Given the description of an element on the screen output the (x, y) to click on. 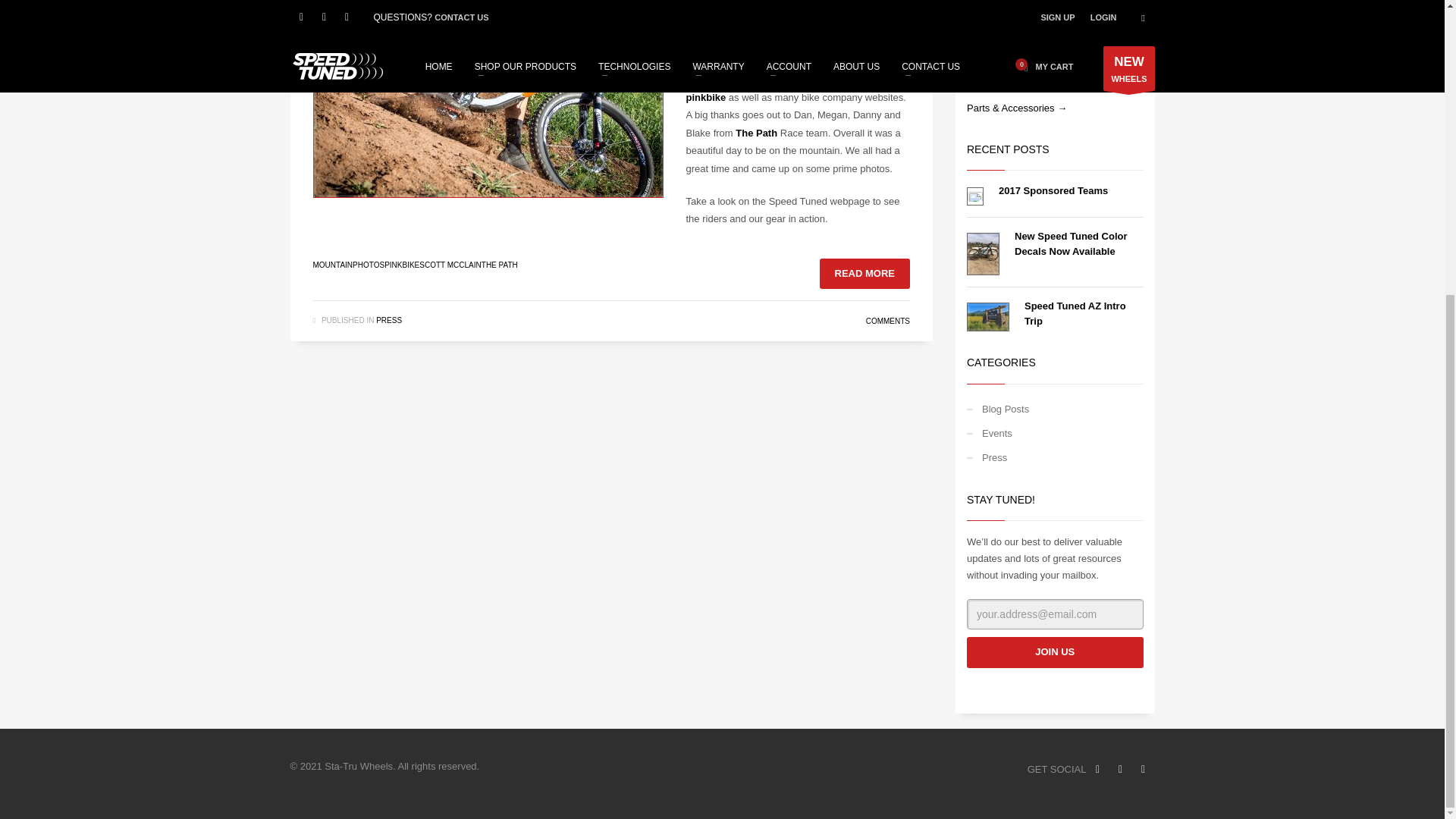
2017 Sponsored Teams (1053, 190)
New Speed Tuned Color Decals Now Available (1070, 243)
Follow our tweets! (1119, 769)
JOIN US (1054, 652)
Like us on Facebook! (1097, 769)
Speed Tuned AZ Intro Trip (1075, 313)
Instagram (1142, 769)
